Given the description of an element on the screen output the (x, y) to click on. 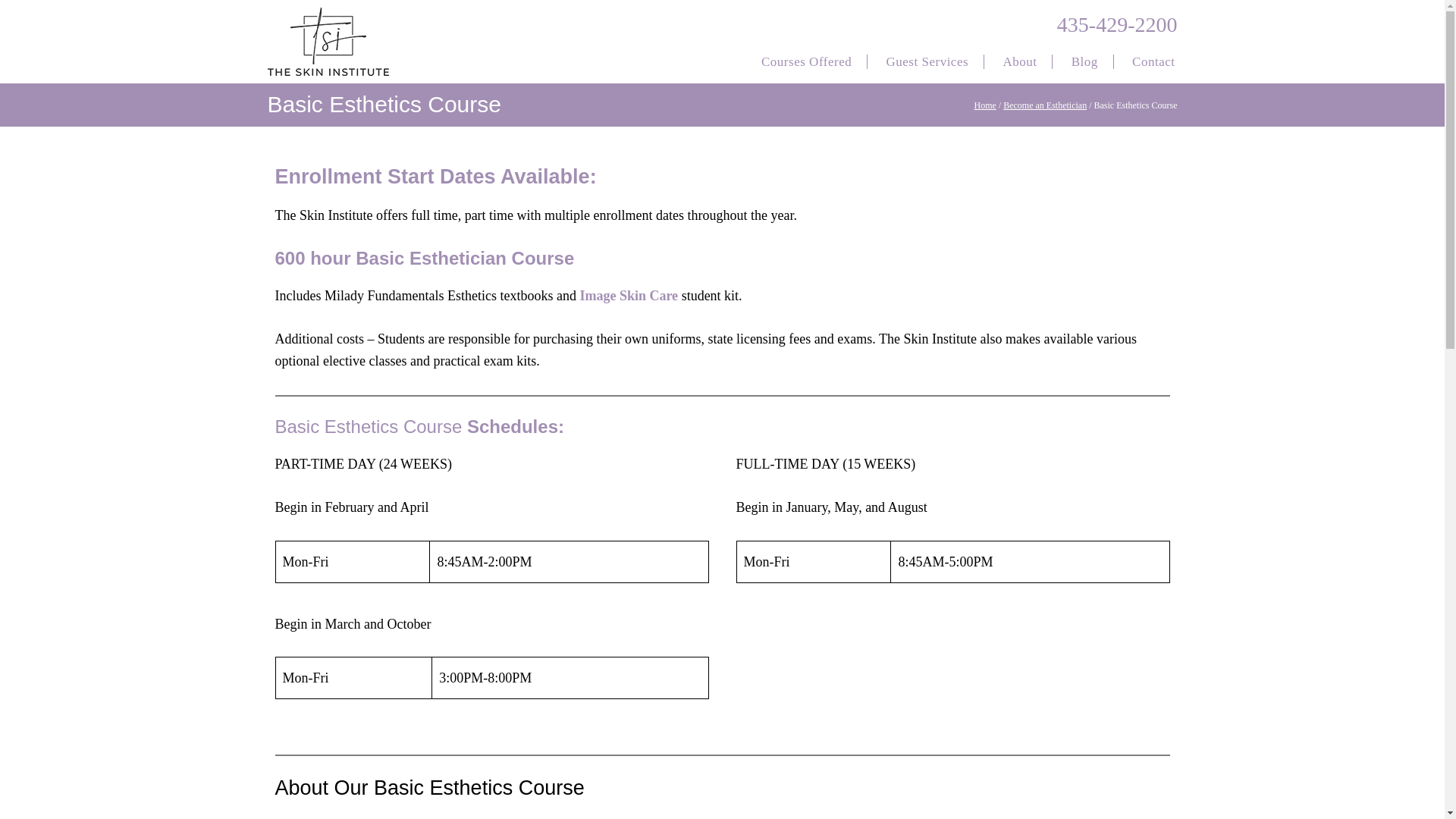
Home (984, 104)
Courses Offered (806, 62)
Guest Services (927, 62)
Contact (1152, 62)
About (1019, 62)
435-429-2200 (1117, 24)
Become an Esthetician (1044, 104)
Blog (1085, 62)
Image Skin Care (628, 295)
